Given the description of an element on the screen output the (x, y) to click on. 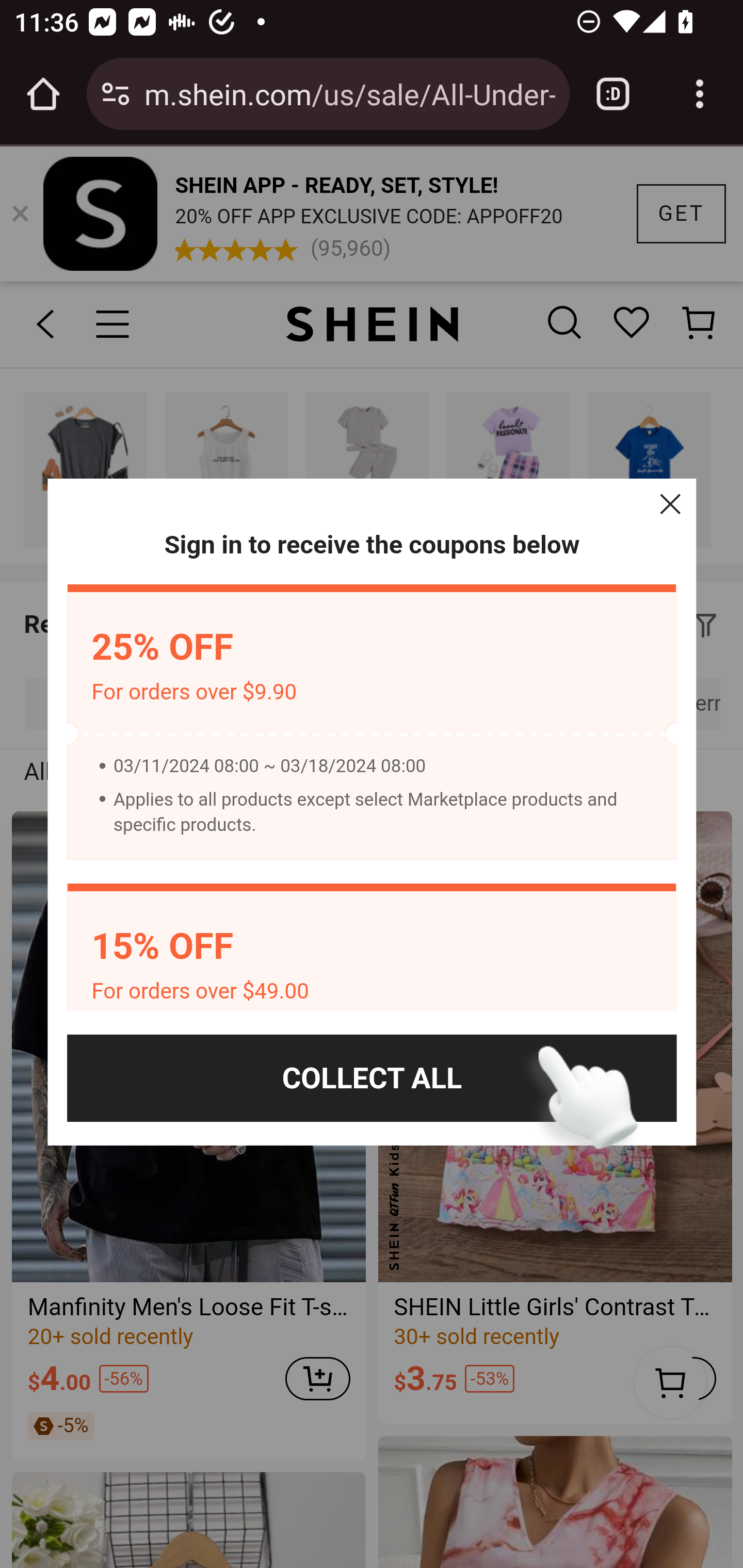
Open the home page (43, 93)
Connection is secure (115, 93)
Switch or close tabs (612, 93)
Customize and control Google Chrome (699, 93)
Close (669, 503)
COLLECT ALL (371, 1077)
